Given the description of an element on the screen output the (x, y) to click on. 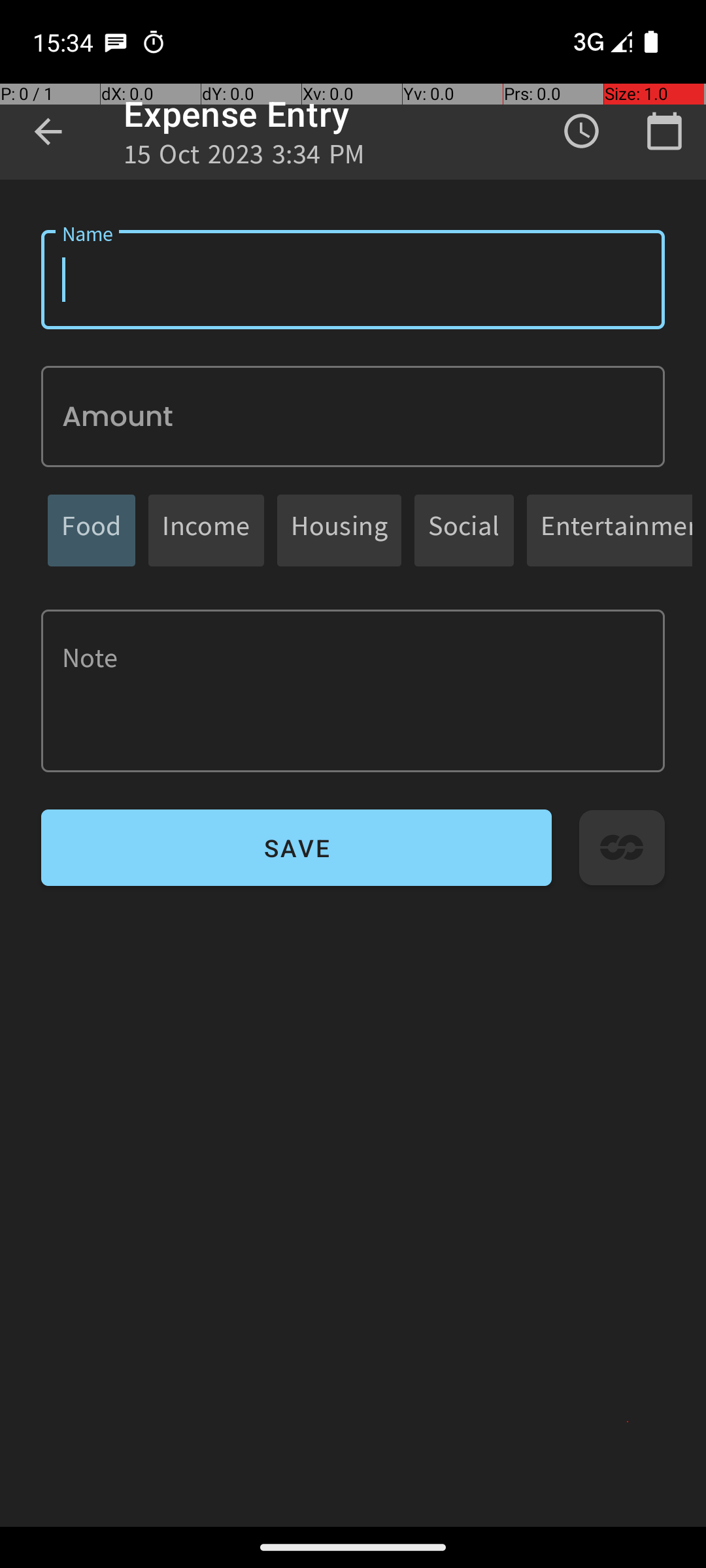
SMS Messenger notification: Sophie Gonzalez Element type: android.widget.ImageView (115, 41)
